Given the description of an element on the screen output the (x, y) to click on. 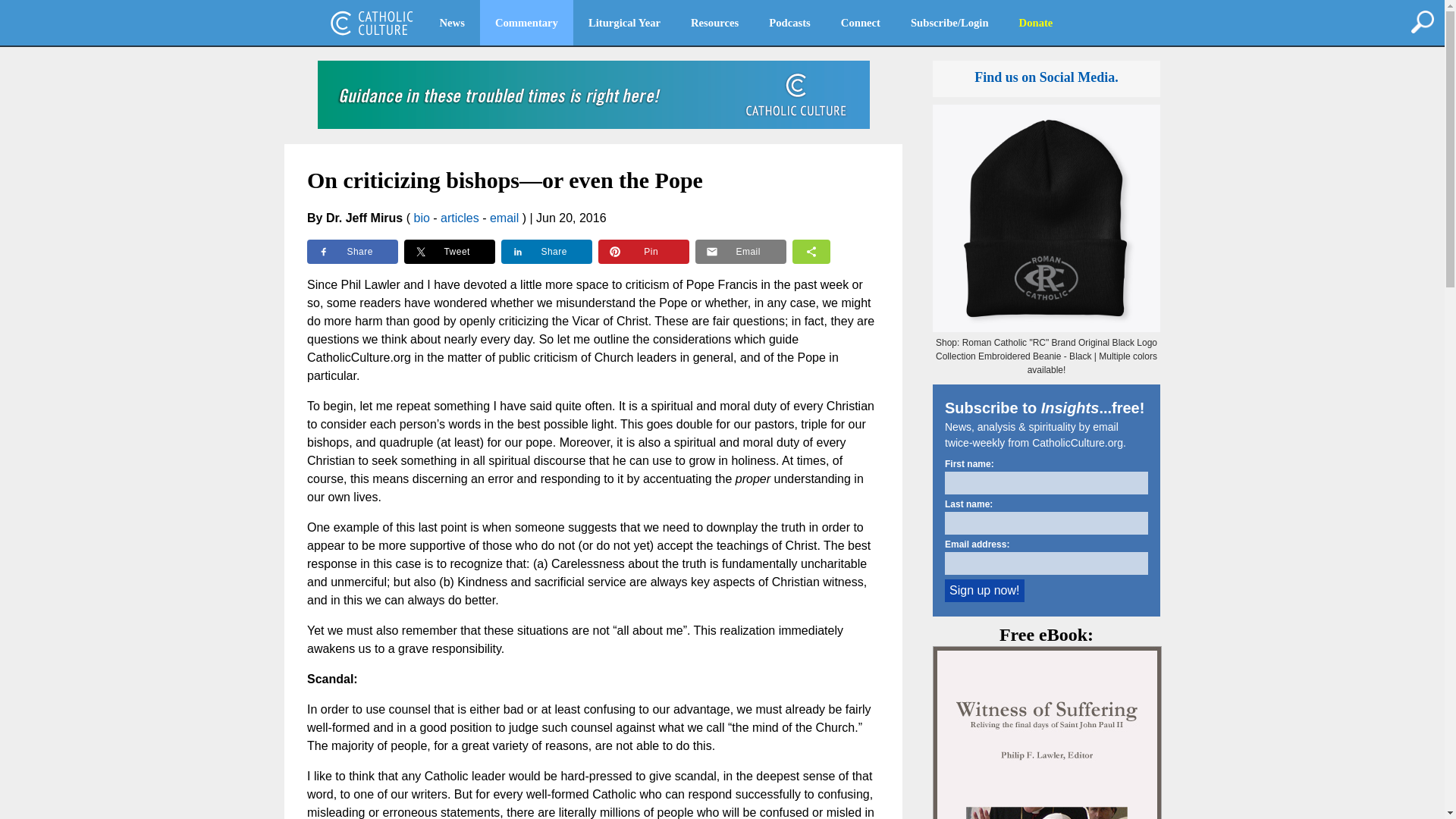
CatholicCulture.org (371, 22)
Commentary (526, 22)
Sign up now! (984, 590)
News (452, 22)
Liturgical Year (624, 22)
Podcasts (789, 22)
Resources (714, 22)
